Given the description of an element on the screen output the (x, y) to click on. 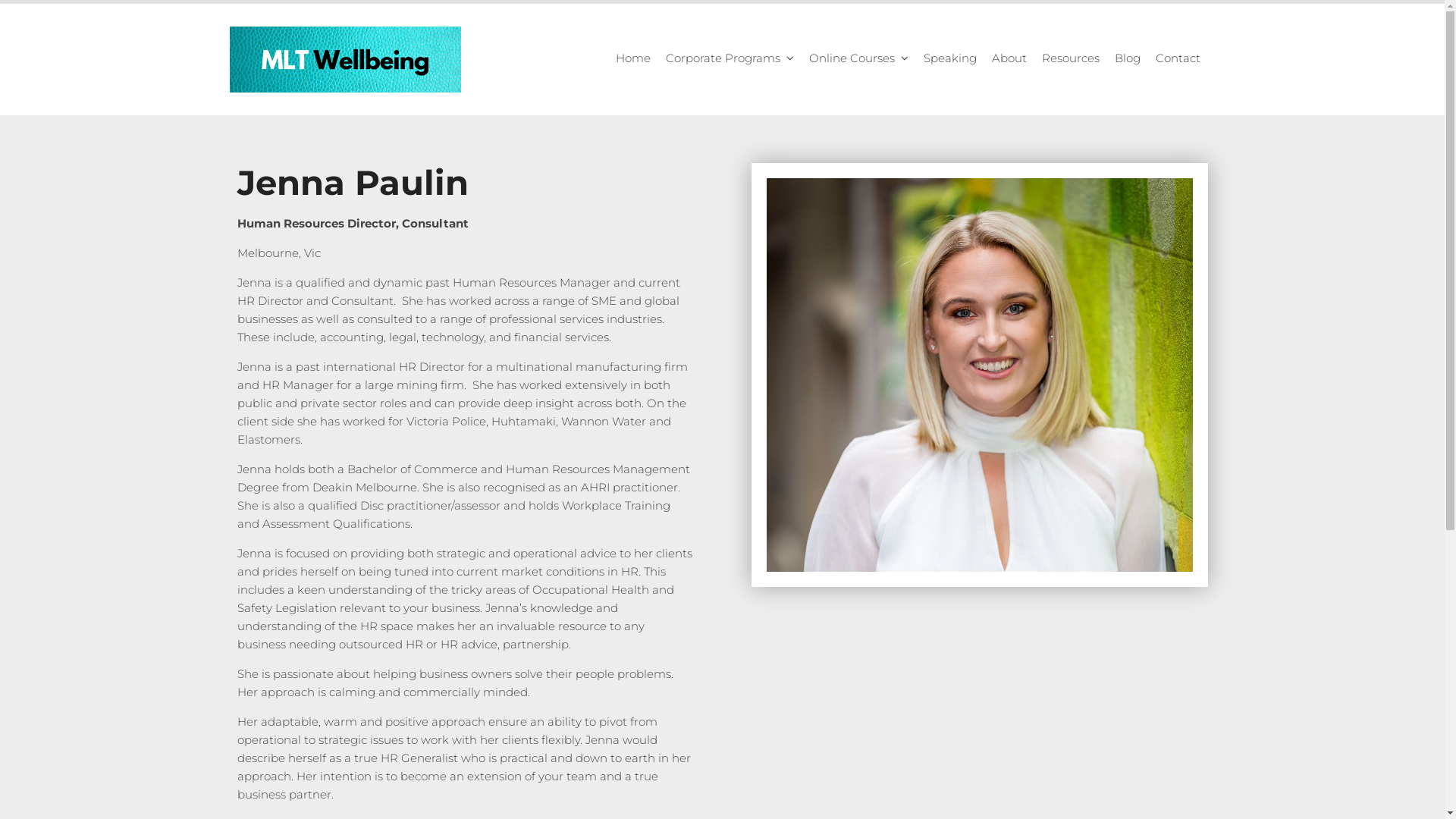
Speaking Element type: text (950, 59)
Blog Element type: text (1127, 59)
Contact Element type: text (1178, 59)
About Element type: text (1009, 59)
Home Element type: text (633, 59)
Corporate Programs Element type: text (729, 59)
Resources Element type: text (1070, 59)
Online Courses Element type: text (857, 59)
